Given the description of an element on the screen output the (x, y) to click on. 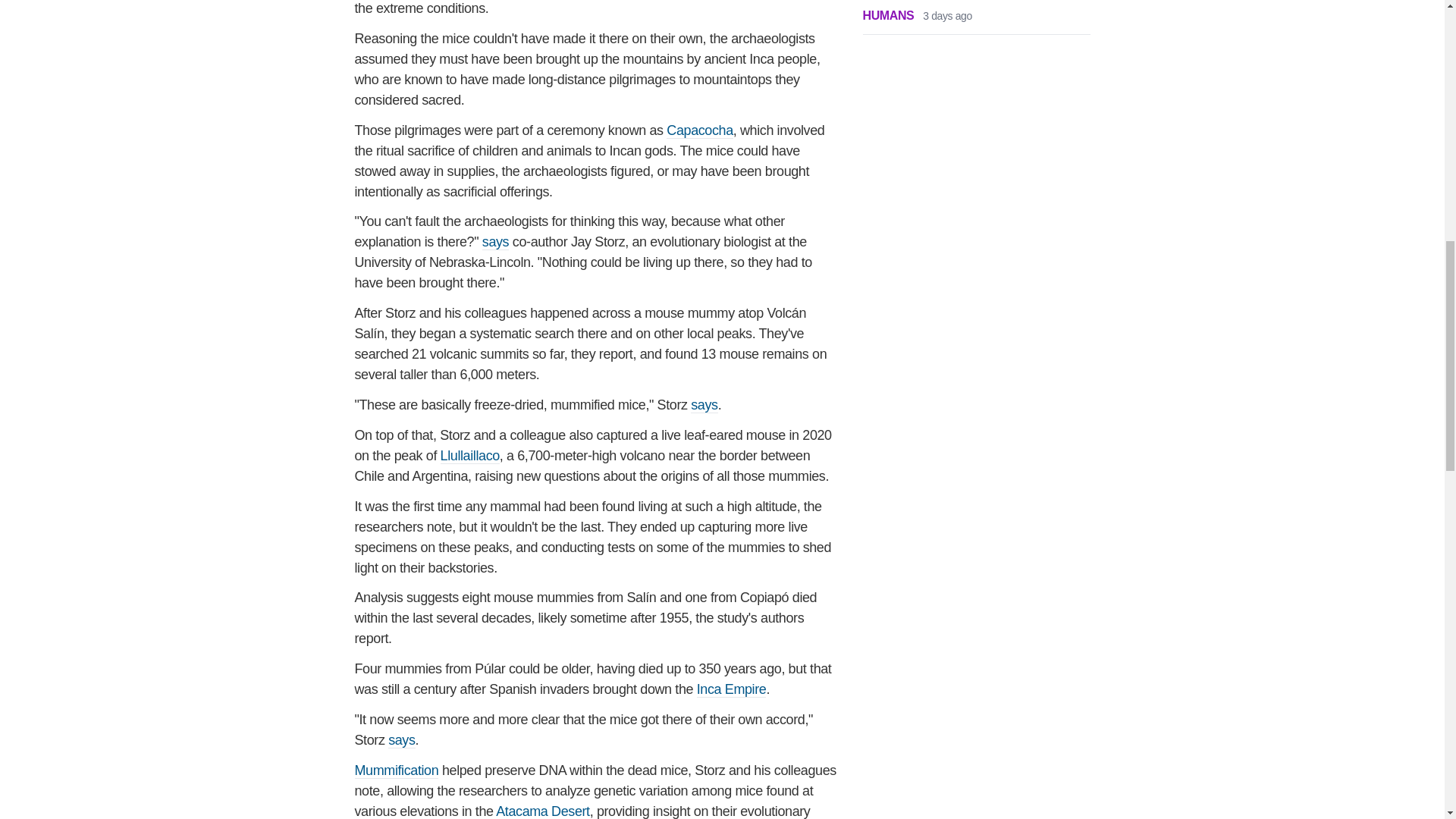
Capacocha (699, 130)
says (494, 242)
says (703, 405)
Llullaillaco (470, 455)
Inca Empire (732, 689)
